Given the description of an element on the screen output the (x, y) to click on. 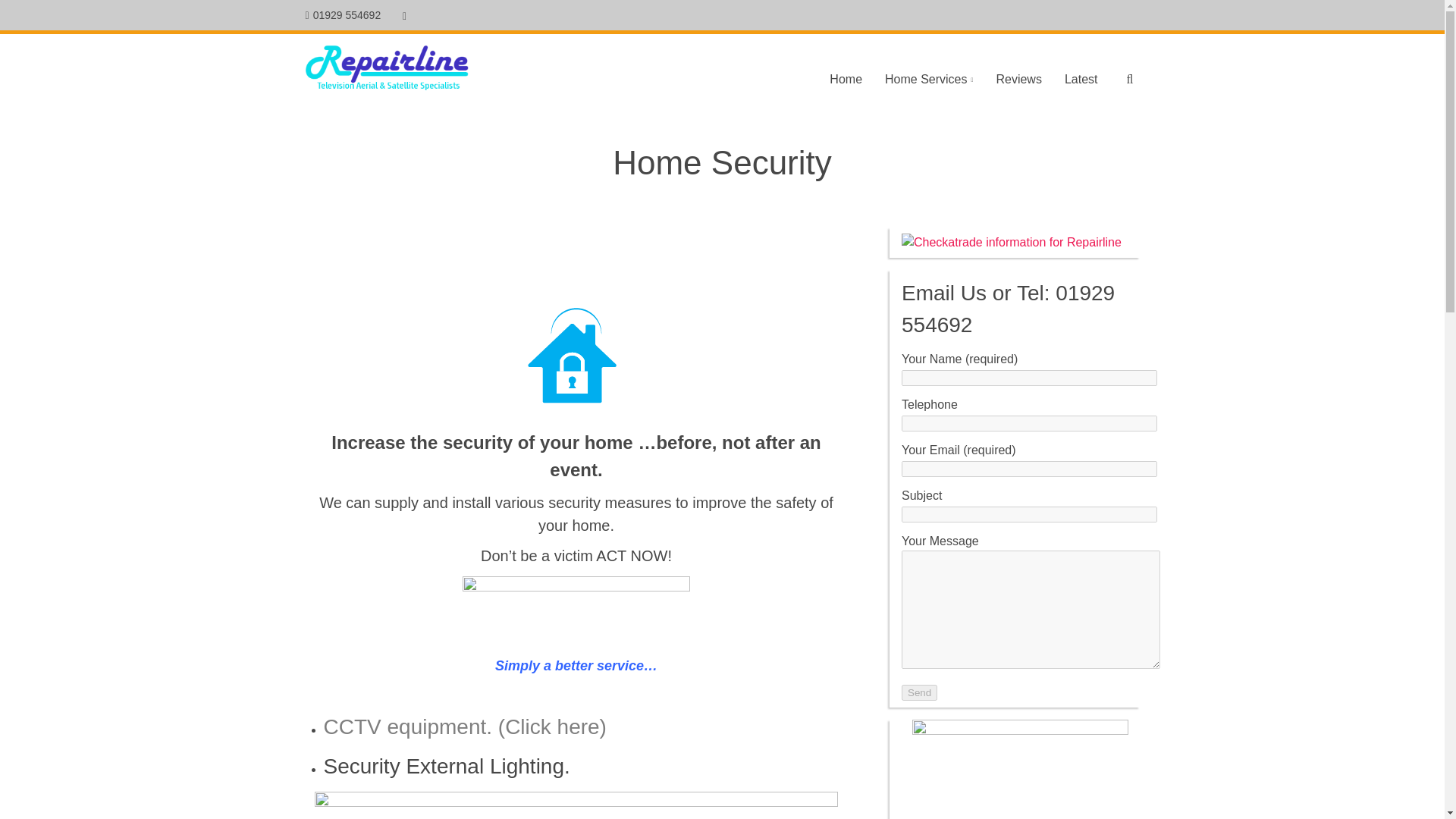
Home (845, 78)
Home Services (928, 78)
Send (919, 692)
Latest (1080, 78)
Reviews (1018, 78)
Send (919, 692)
